Given the description of an element on the screen output the (x, y) to click on. 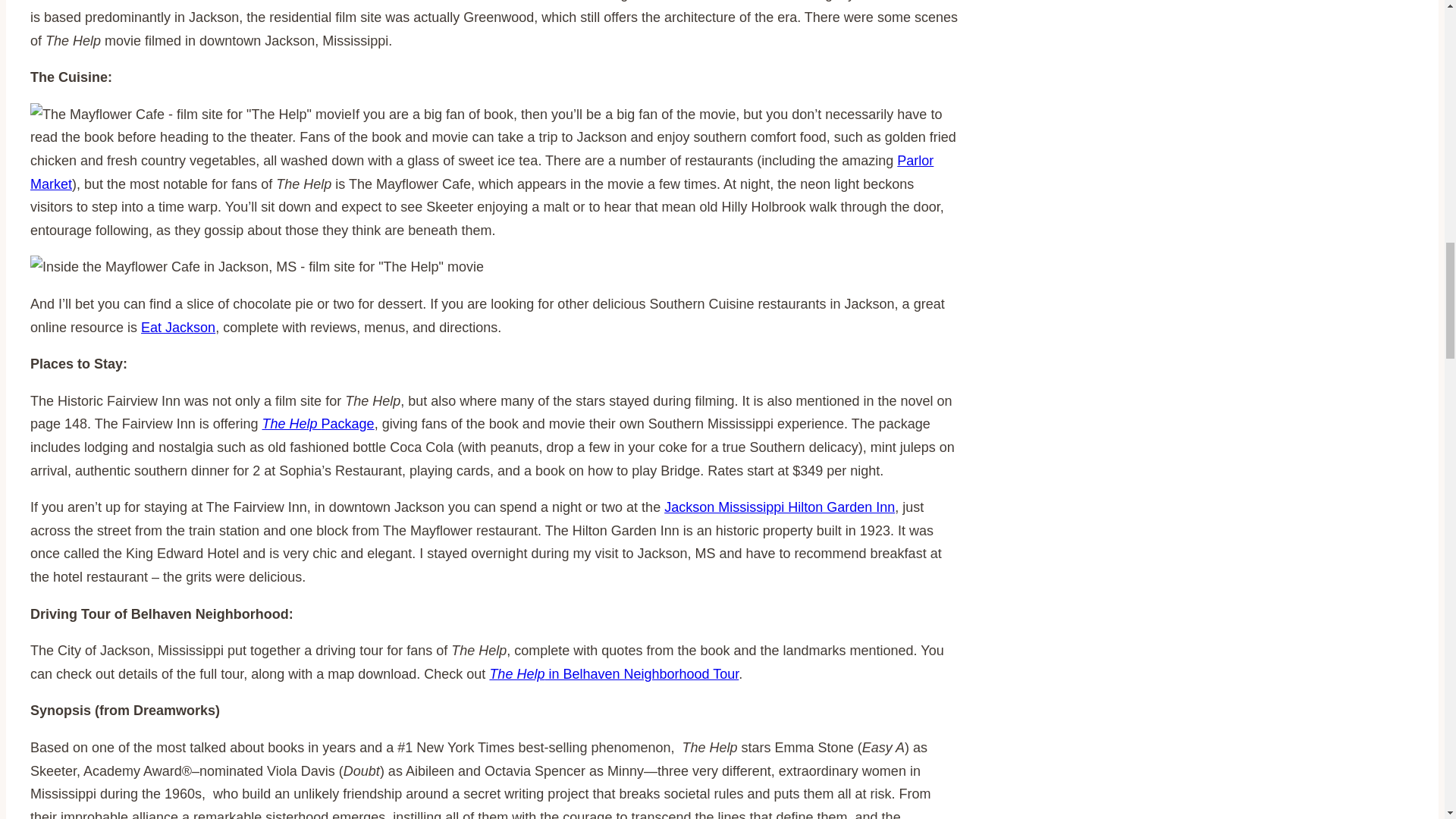
The Help in Belhaven Neighborhood Tour (613, 673)
Eat Jackson (178, 327)
Downtown Jackson Hotel (779, 507)
The Help (291, 423)
The Mayflower Cafe - film site for "The Help" movie (191, 114)
Package (347, 423)
Parlor Market (481, 172)
Jackson Mississippi Hilton Garden Inn (779, 507)
